Given the description of an element on the screen output the (x, y) to click on. 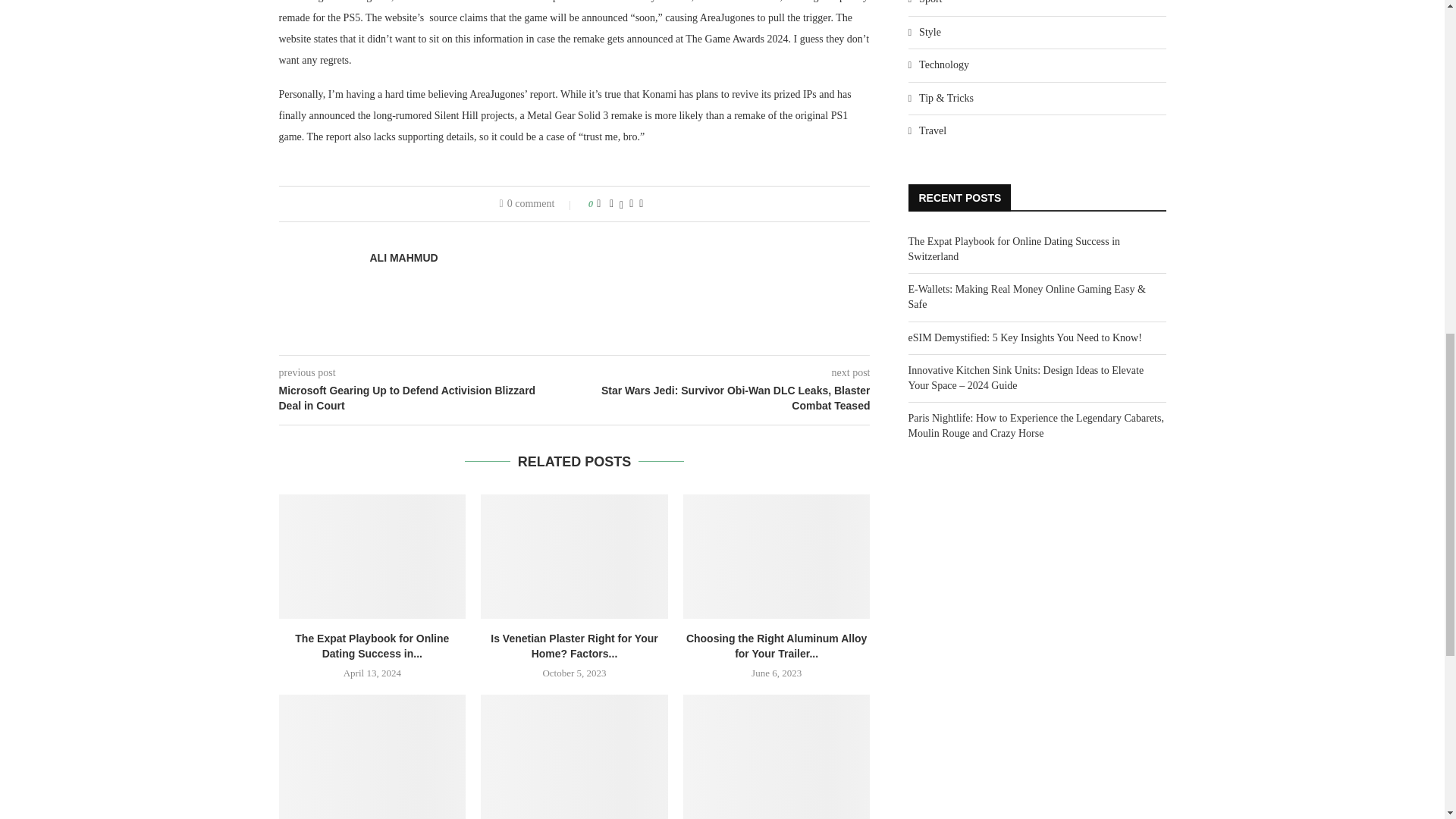
Author Ali Mahmud (403, 257)
ALI MAHMUD (403, 257)
Is Venetian Plaster Right for Your Home? Factors... (574, 646)
Choosing the Right Aluminum Alloy for Your Trailer... (776, 646)
The Rise of Cryptocurrency Casinos: Pros and Cons (372, 756)
The Expat Playbook for Online Dating Success in... (371, 646)
The Expat Playbook for Online Dating Success in Switzerland (372, 556)
